Given the description of an element on the screen output the (x, y) to click on. 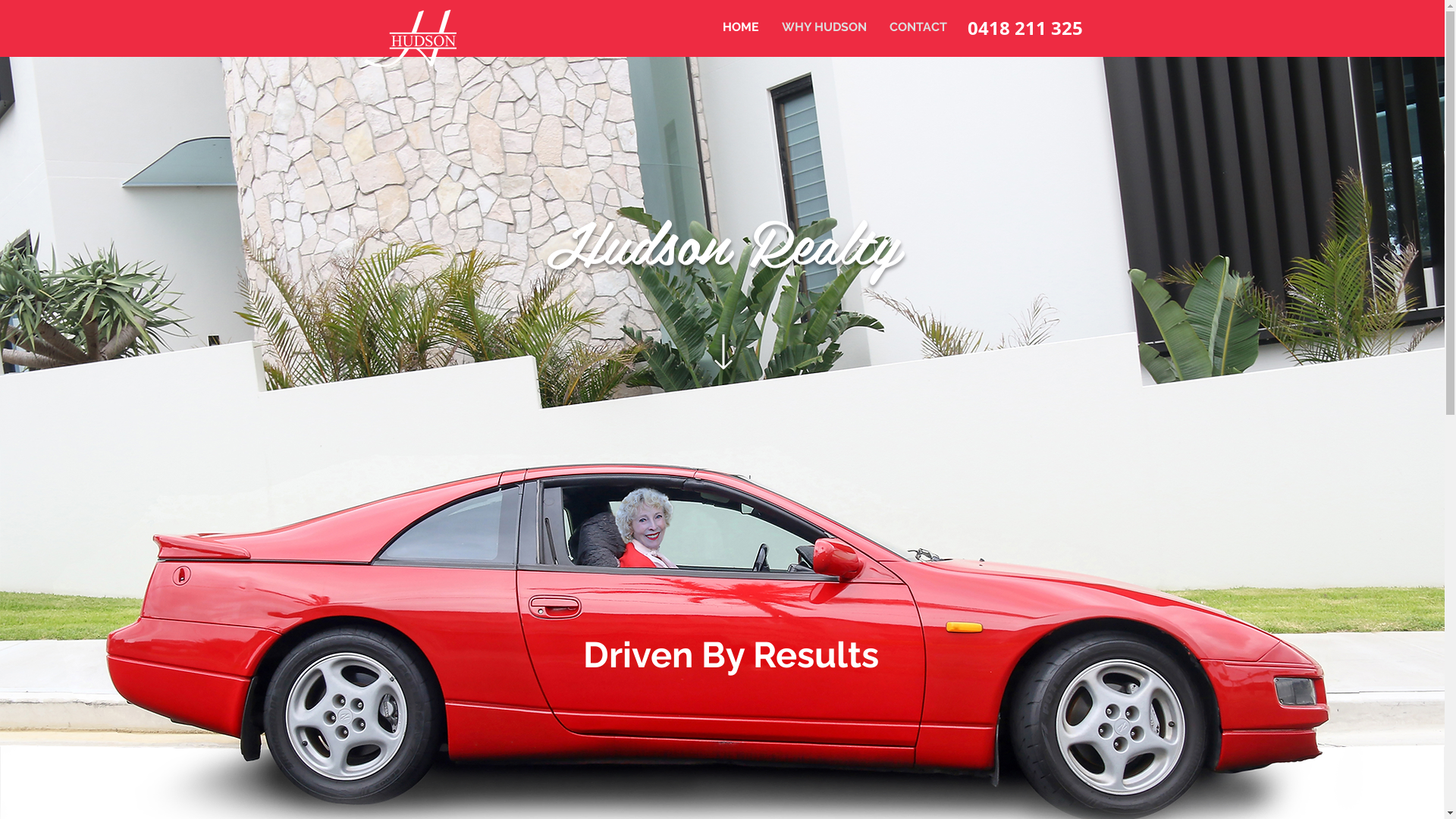
HOME Element type: text (740, 26)
WHY HUDSON Element type: text (824, 26)
CONTACT Element type: text (918, 26)
